Given the description of an element on the screen output the (x, y) to click on. 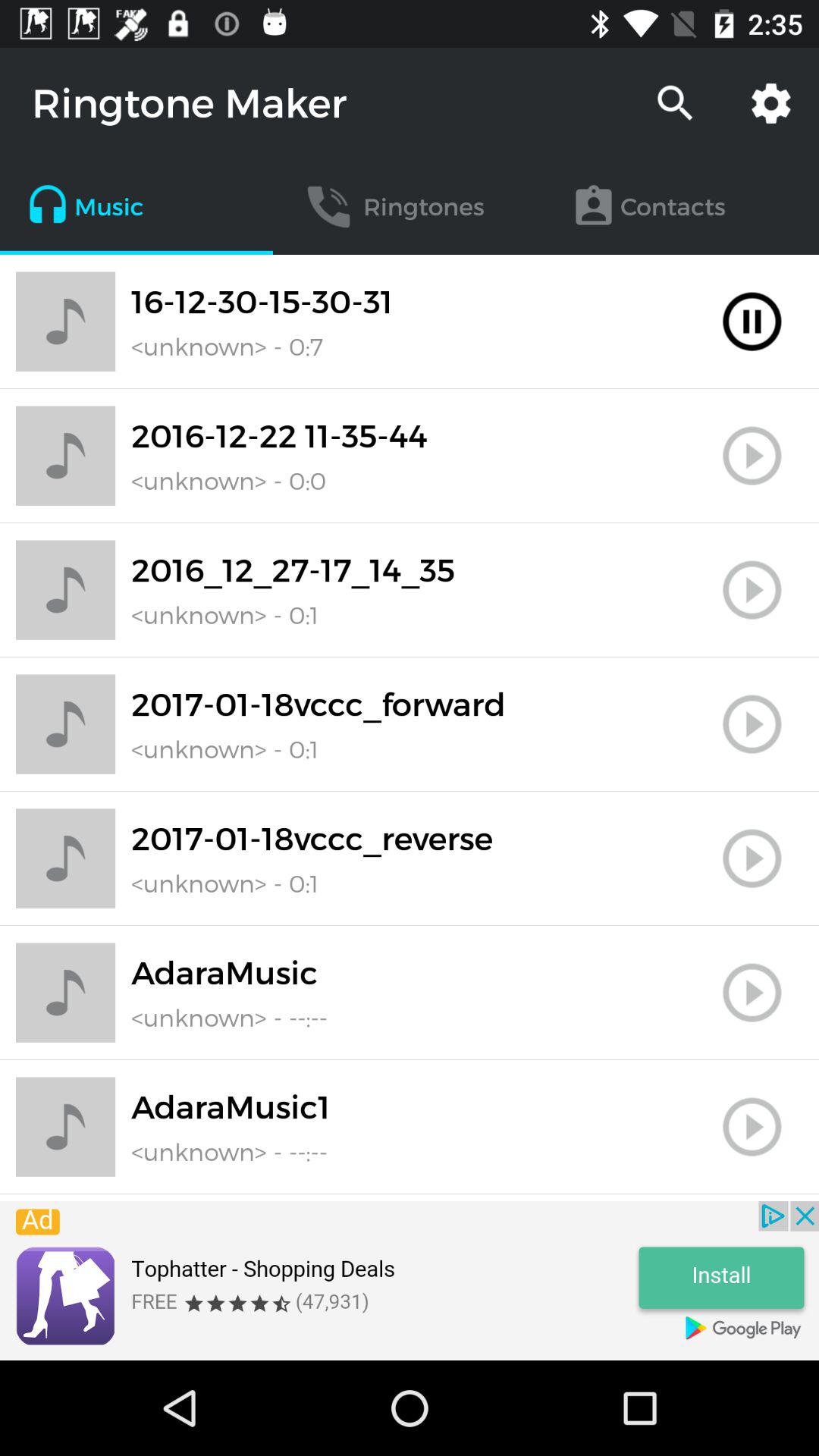
play the song (752, 992)
